Given the description of an element on the screen output the (x, y) to click on. 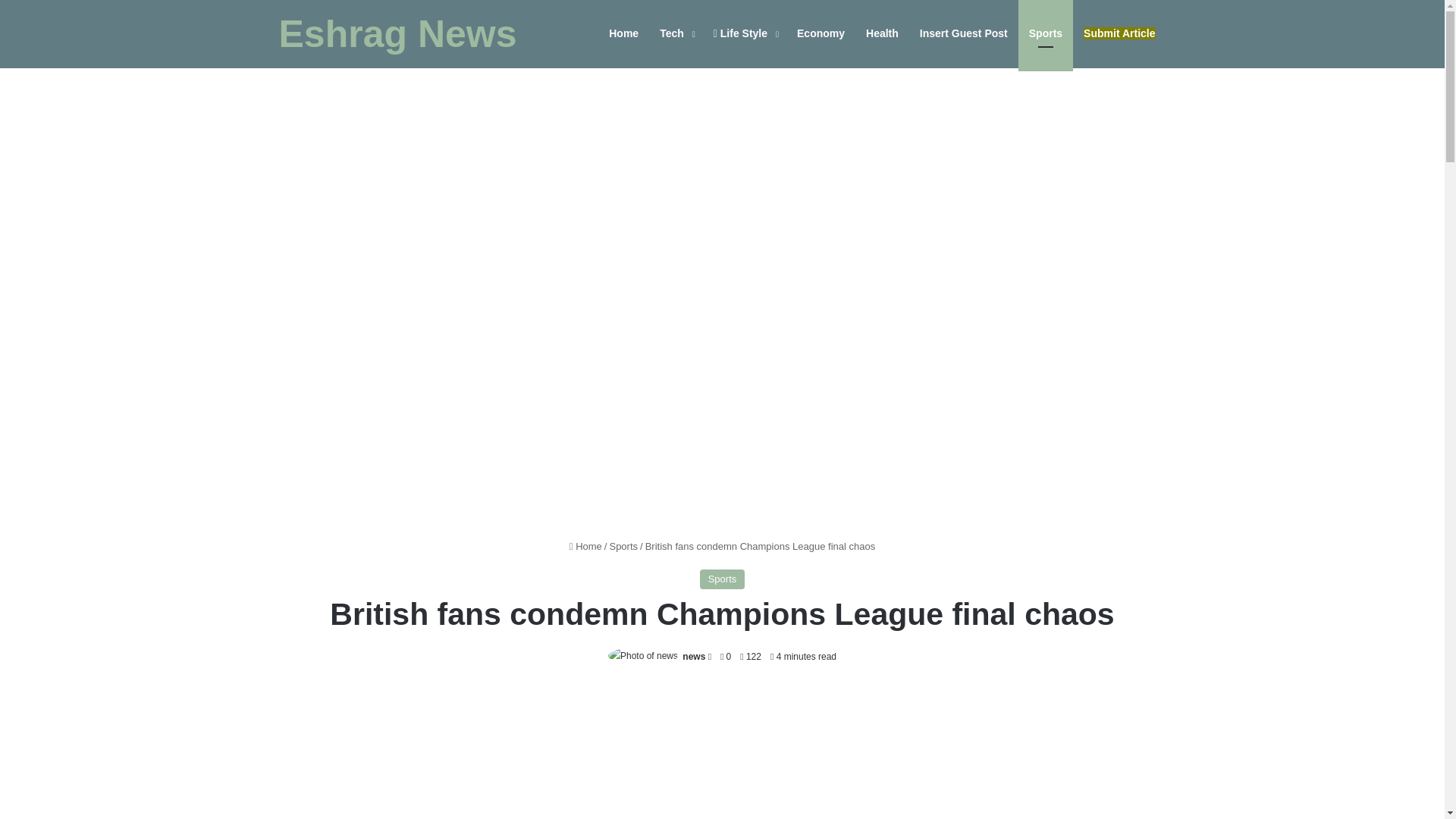
Life Style (744, 33)
Advertisement (722, 753)
Submit Article (1119, 33)
Economy (821, 33)
Insert Guest Post (962, 33)
news (693, 656)
Eshrag News (397, 34)
Sports (722, 578)
